Given the description of an element on the screen output the (x, y) to click on. 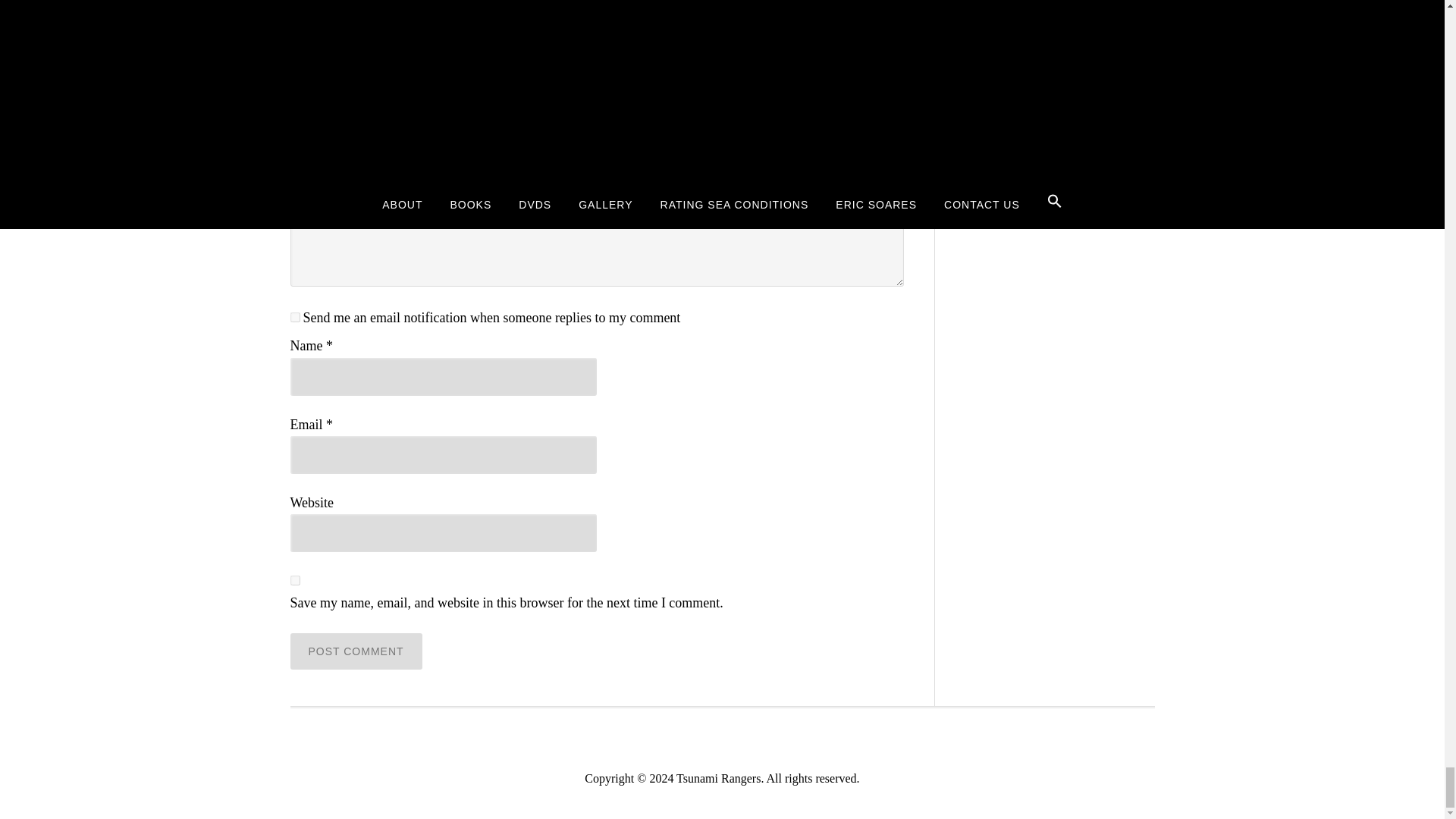
Post Comment (355, 651)
yes (294, 580)
1 (294, 317)
